Given the description of an element on the screen output the (x, y) to click on. 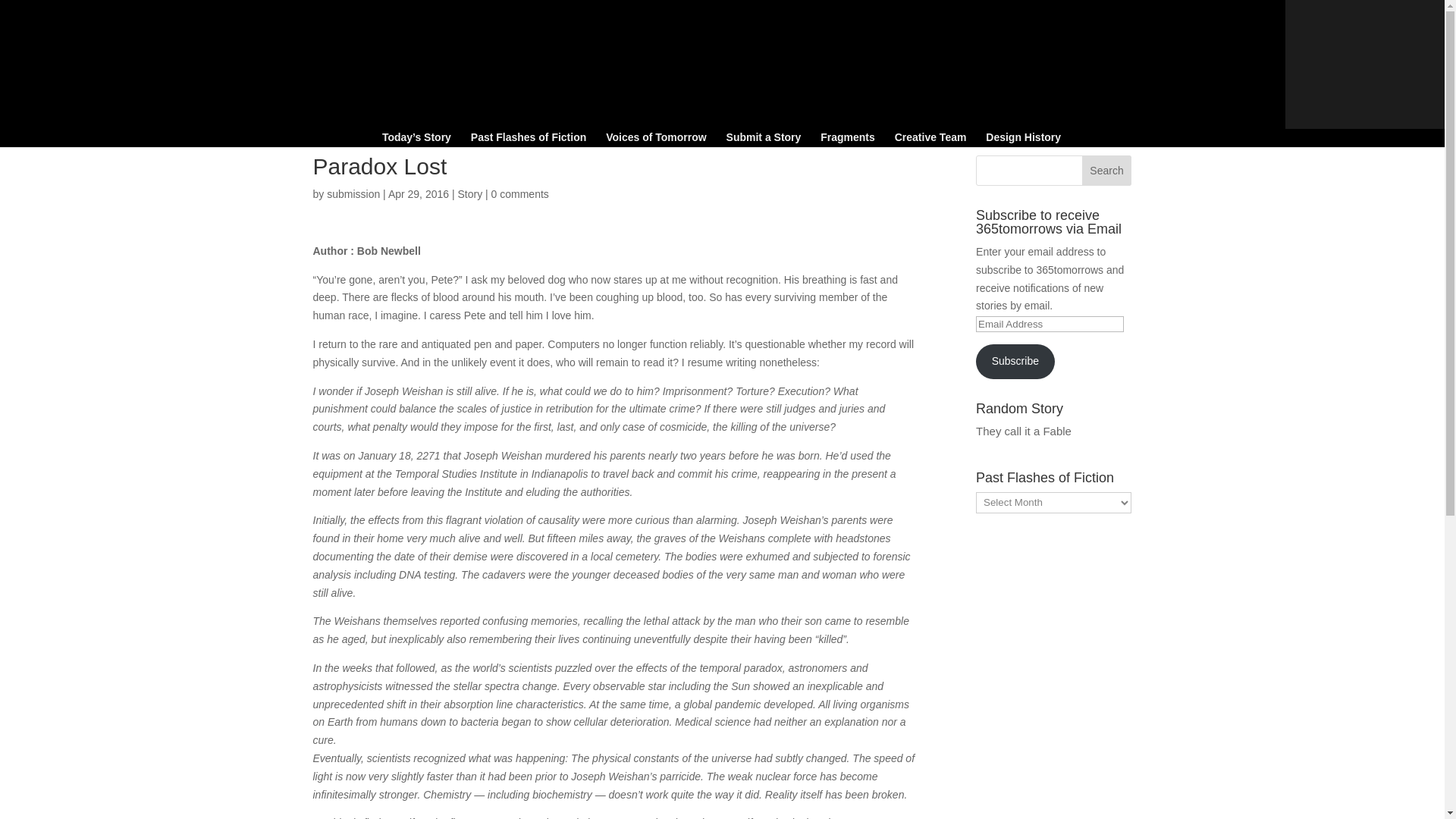
Voices of Tomorrow (655, 139)
Design History (1023, 139)
Past Flashes of Fiction (528, 139)
Submit a Story (764, 139)
Search (1106, 170)
0 comments (520, 193)
They call it a Fable (1023, 431)
Story (469, 193)
submission (353, 193)
Fragments (848, 139)
Subscribe (1014, 361)
Posts by submission (353, 193)
Search (1106, 170)
Creative Team (930, 139)
